Given the description of an element on the screen output the (x, y) to click on. 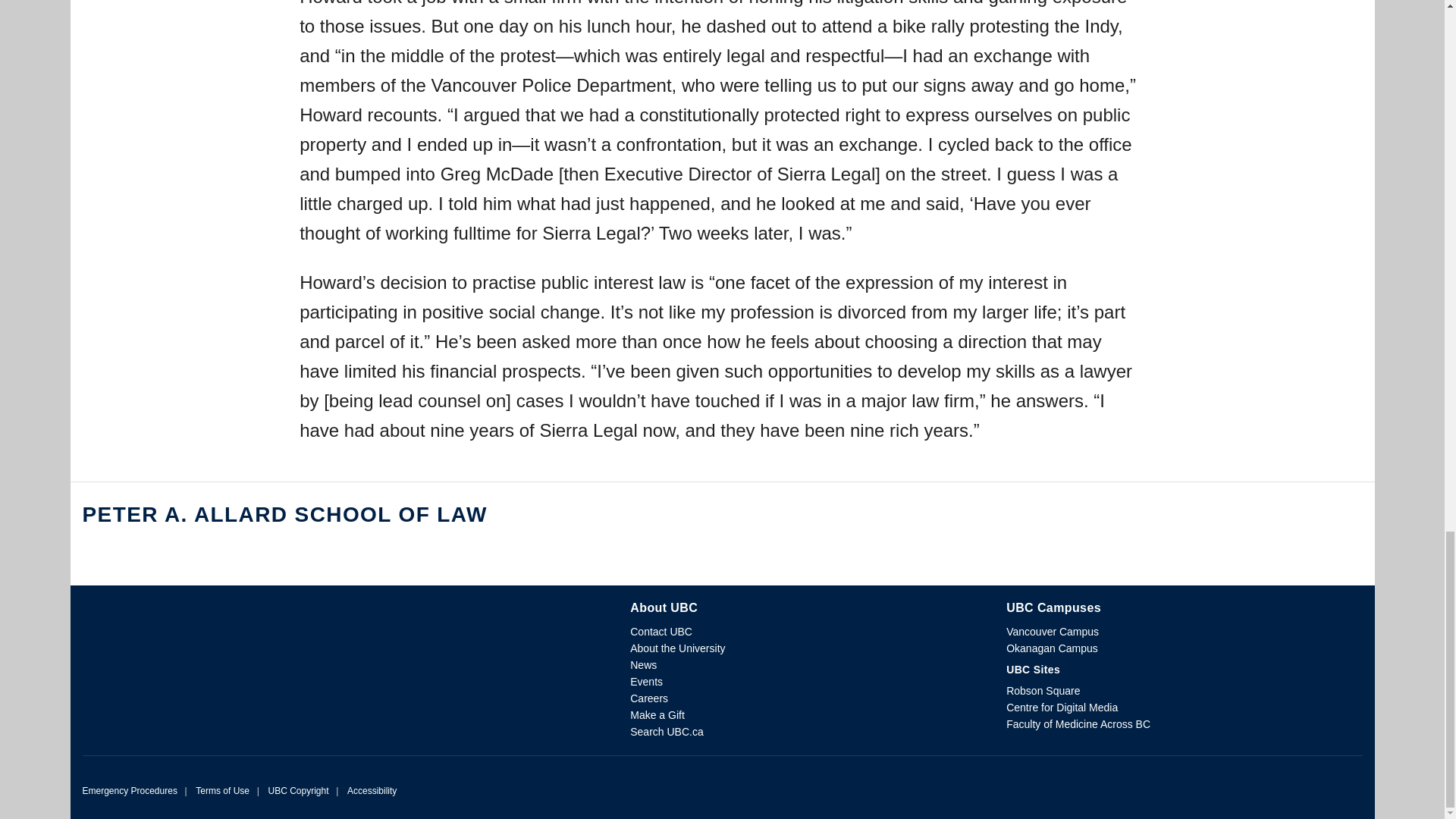
News (643, 664)
Accessibility (371, 790)
Make a Gift (657, 715)
UBC Copyright (298, 790)
Okanagan Campus (1051, 648)
Emergency Procedures (128, 790)
The University of British Columbia (337, 619)
About the University (677, 648)
Careers (649, 698)
Robson Square (1043, 690)
